Given the description of an element on the screen output the (x, y) to click on. 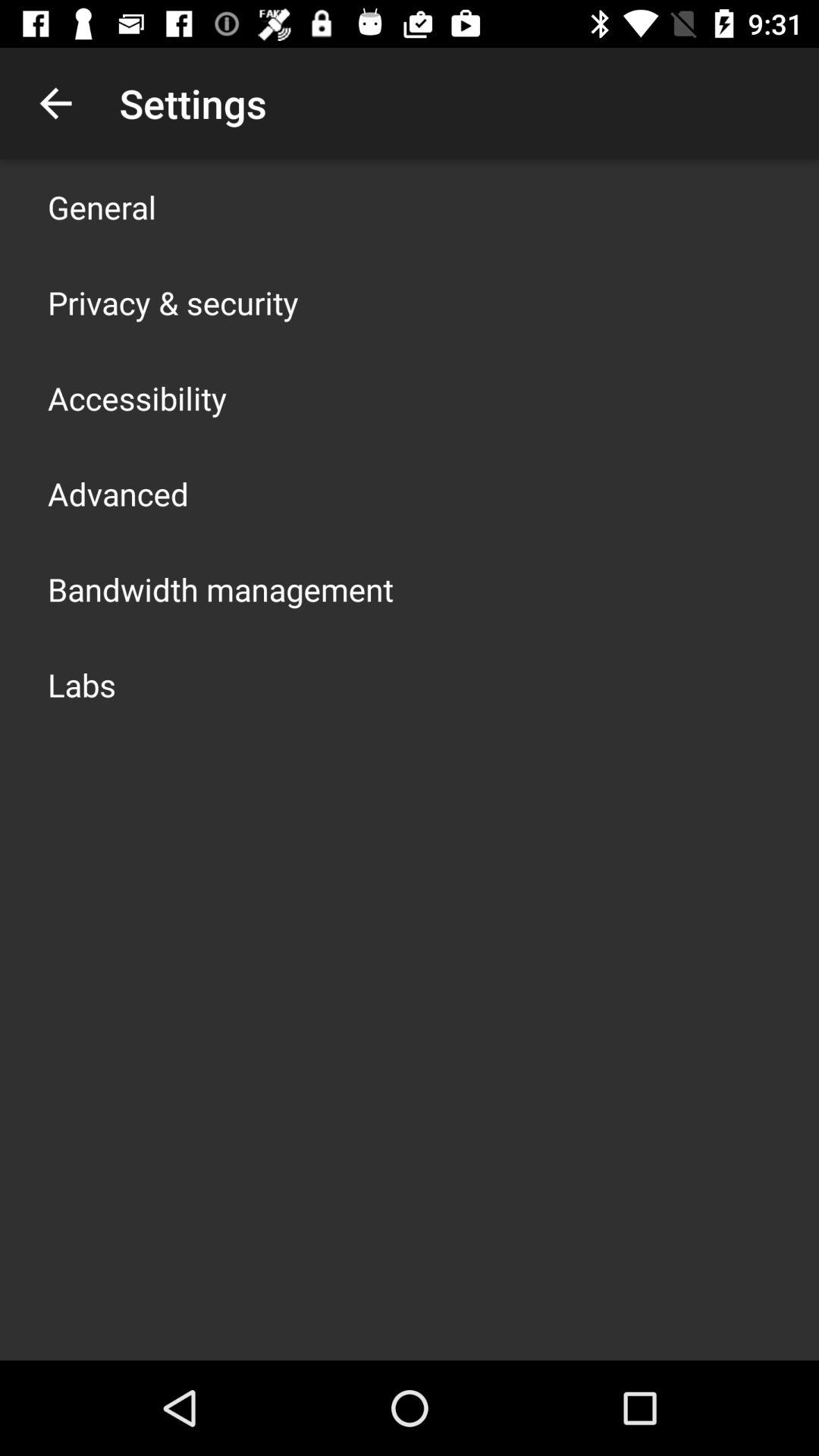
turn on advanced (117, 493)
